Given the description of an element on the screen output the (x, y) to click on. 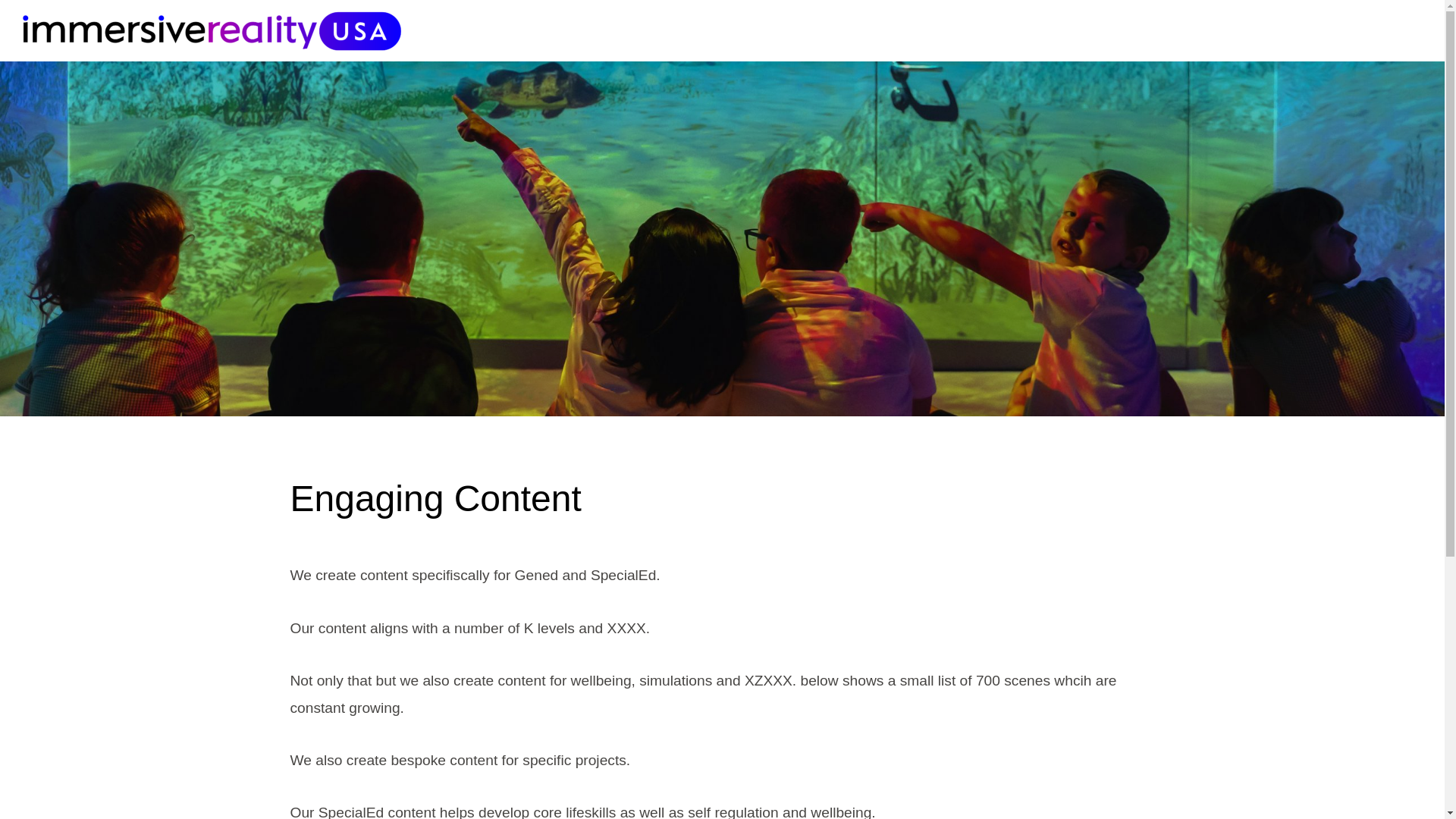
Applications (1082, 30)
News (1186, 30)
Solution (1275, 30)
Contact (1369, 30)
About (977, 30)
